Given the description of an element on the screen output the (x, y) to click on. 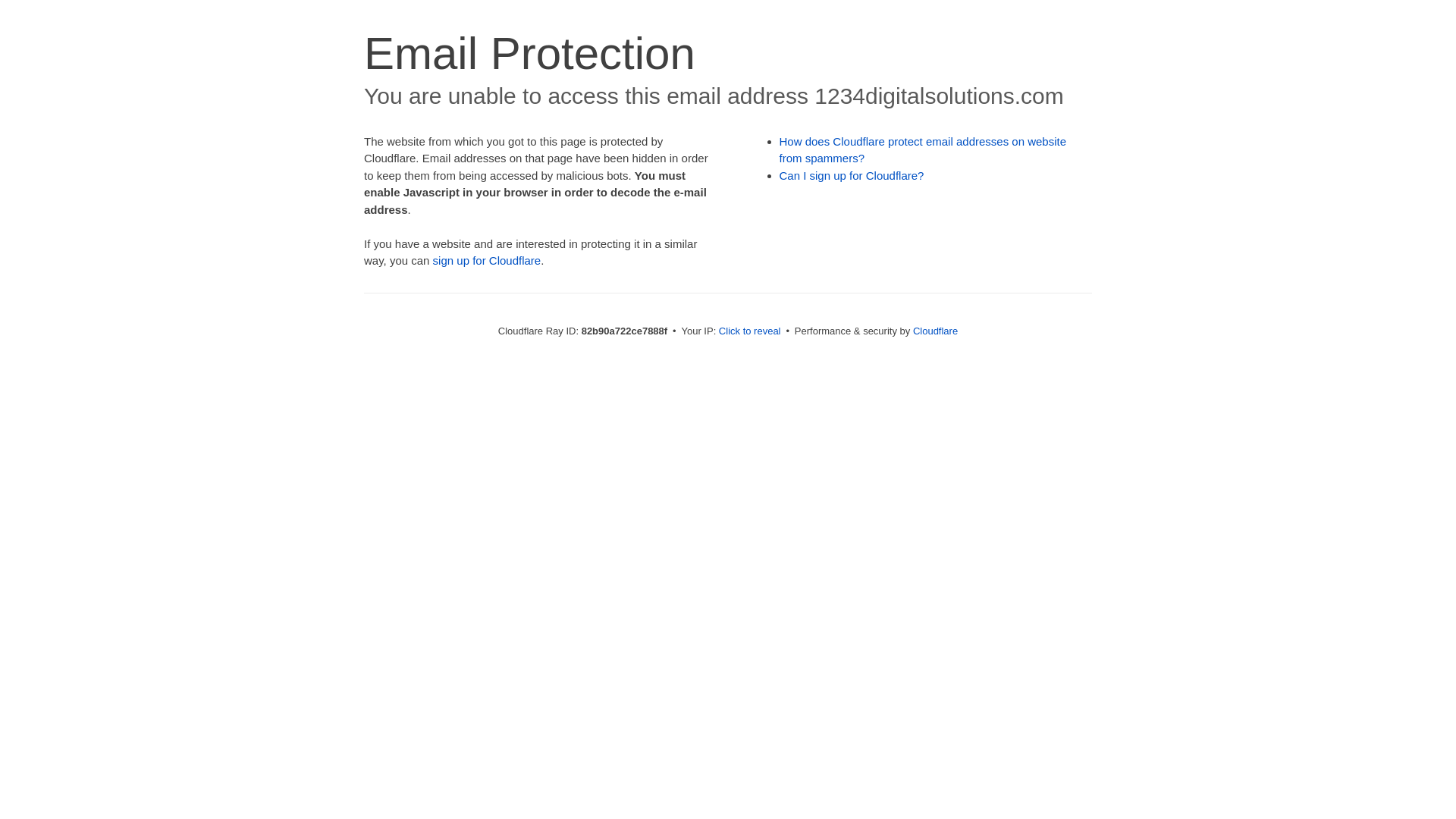
Can I sign up for Cloudflare? Element type: text (851, 175)
Cloudflare Element type: text (935, 330)
Click to reveal Element type: text (749, 330)
sign up for Cloudflare Element type: text (487, 260)
